Given the description of an element on the screen output the (x, y) to click on. 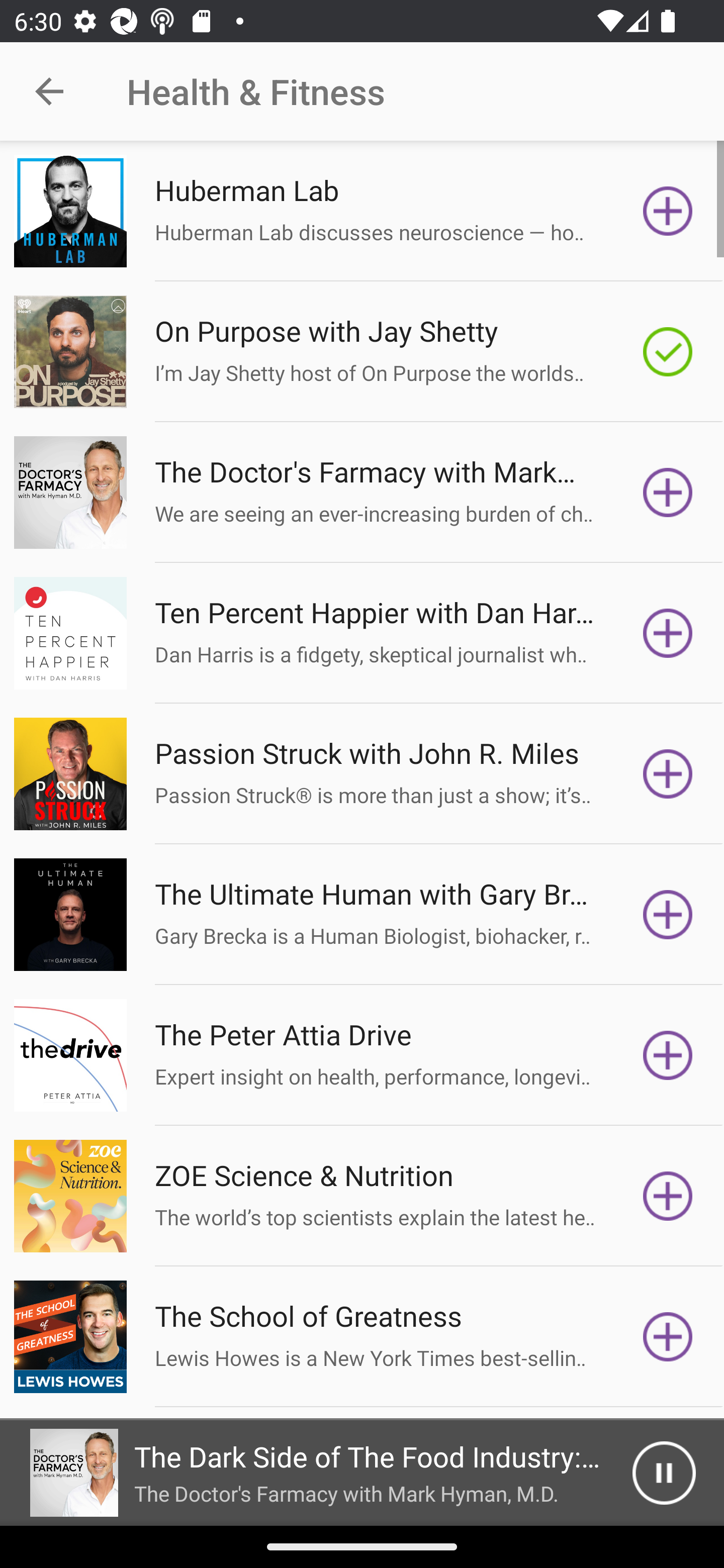
Navigate up (49, 91)
Subscribe (667, 211)
Subscribed (667, 350)
Subscribe (667, 491)
Subscribe (667, 633)
Subscribe (667, 773)
Subscribe (667, 913)
Subscribe (667, 1054)
Subscribe (667, 1195)
Subscribe (667, 1336)
Pause (663, 1472)
